Given the description of an element on the screen output the (x, y) to click on. 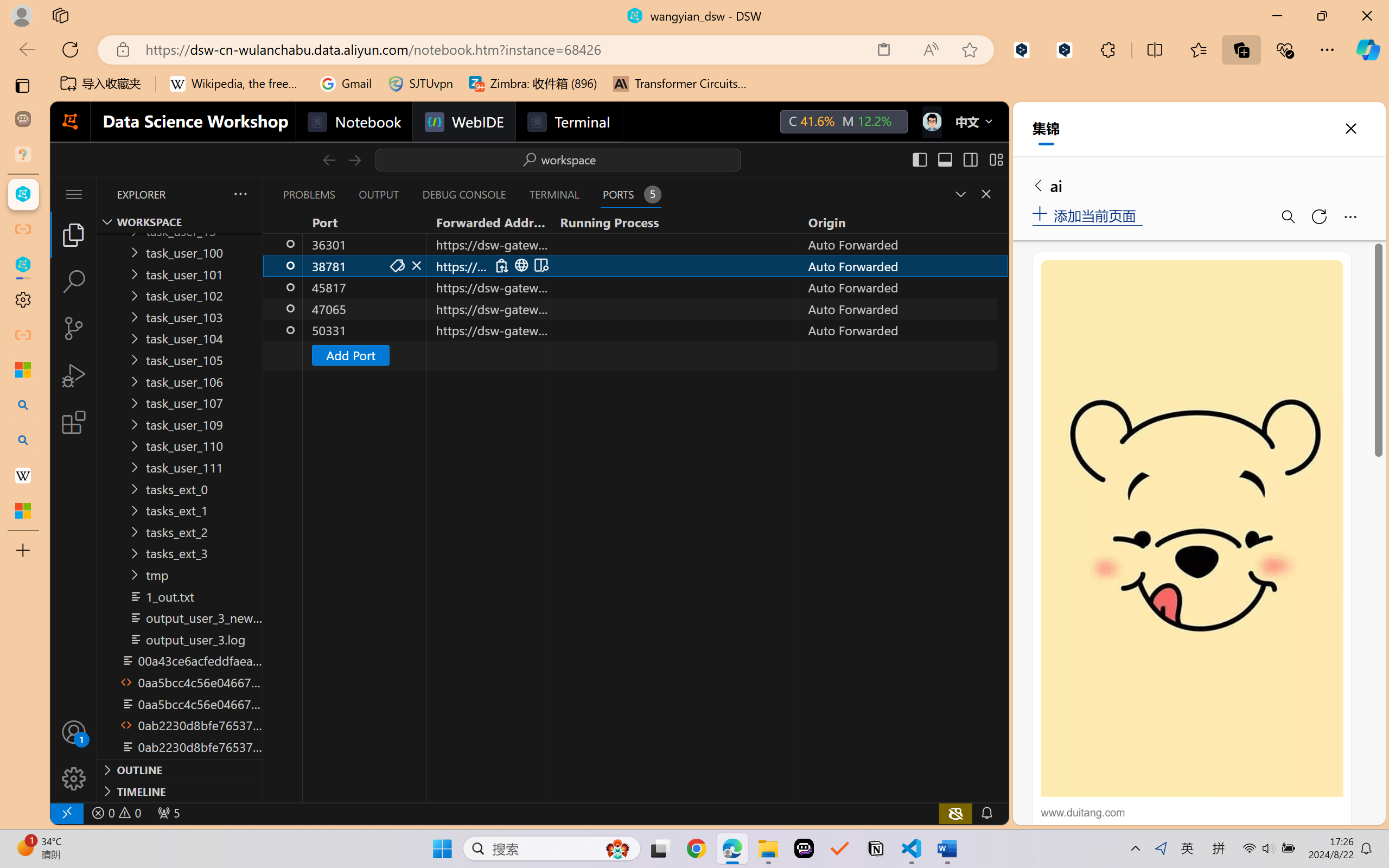
Earth - Wikipedia (22, 475)
Toggle Secondary Side Bar (Ctrl+Alt+B) (969, 159)
Ports - 5 forwarded ports Ports - 5 forwarded ports (630, 194)
icon (930, 121)
WebIDE (463, 121)
Extensions (Ctrl+Shift+X) (73, 422)
icon (930, 119)
Views and More Actions... (239, 193)
Output (Ctrl+Shift+U) (377, 194)
Close Panel (986, 193)
Explorer (Ctrl+Shift+E) (73, 234)
